Given the description of an element on the screen output the (x, y) to click on. 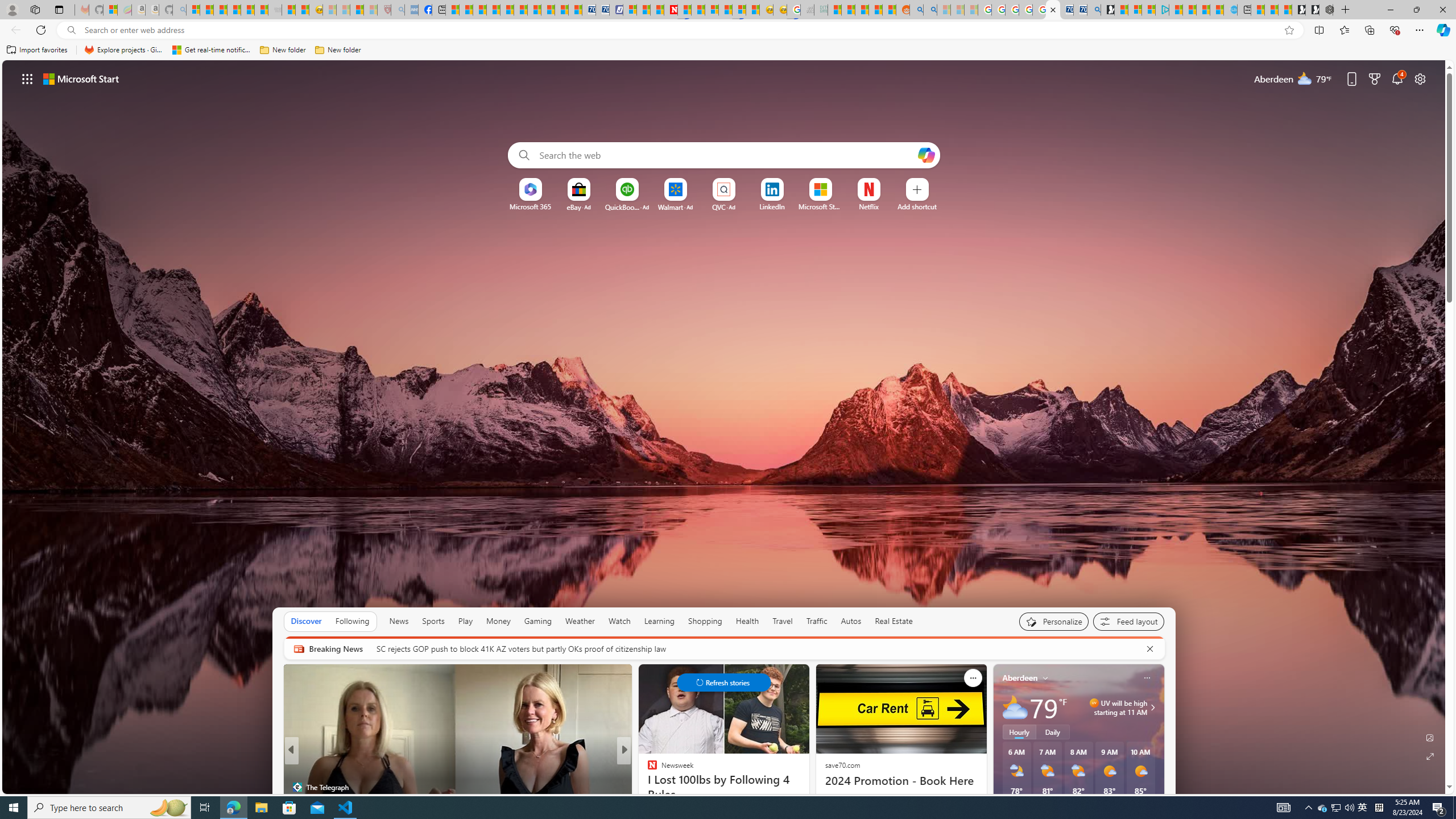
Search icon (70, 29)
Microsoft Start Gaming (1107, 9)
Utah sues federal government - Search (930, 9)
Page settings (1420, 78)
Microsoft rewards (1374, 78)
12 Popular Science Lies that Must be Corrected - Sleeping (369, 9)
Climate Damage Becomes Too Severe To Reverse (493, 9)
